Given the description of an element on the screen output the (x, y) to click on. 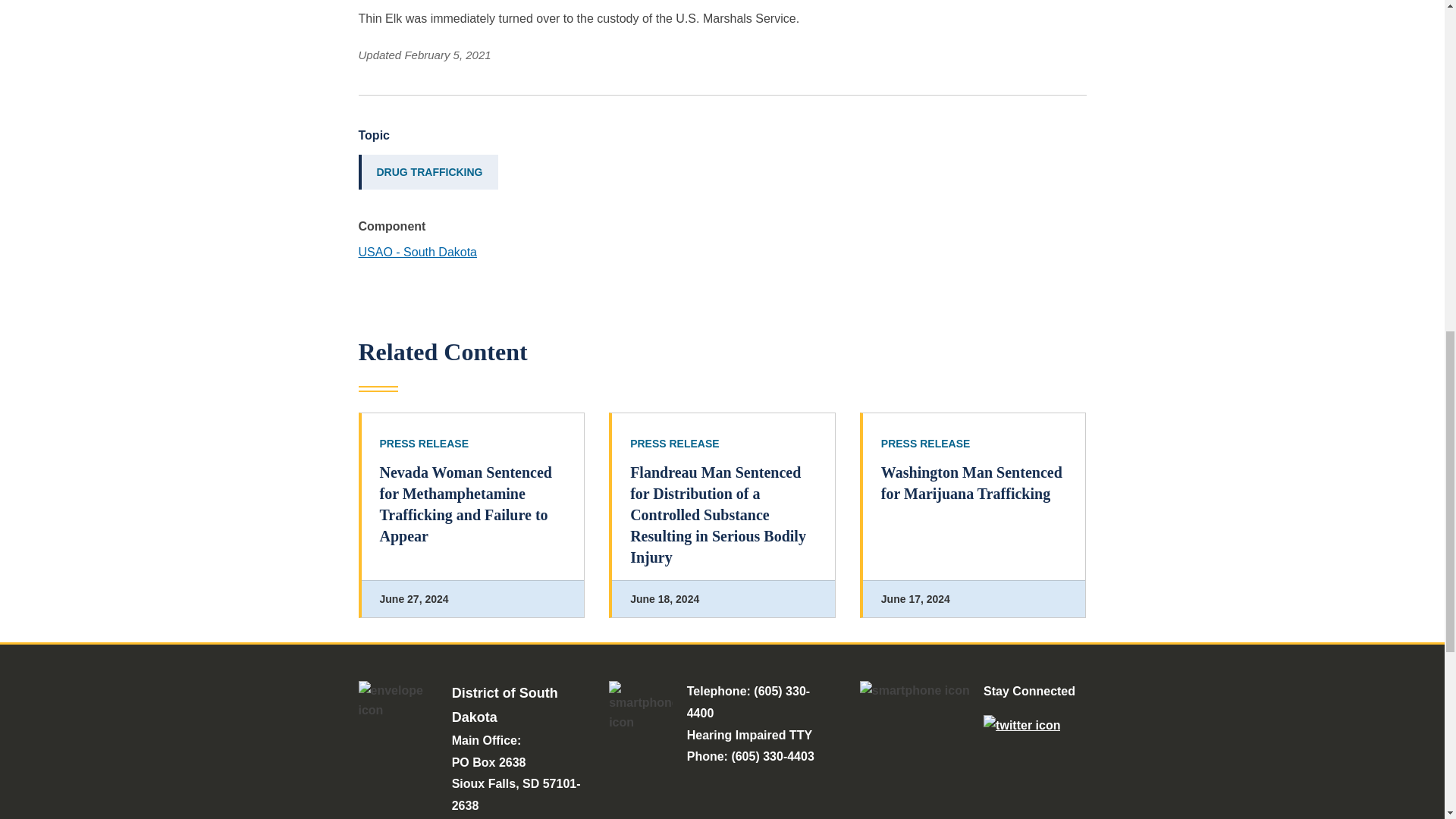
USAO - South Dakota (417, 251)
